Given the description of an element on the screen output the (x, y) to click on. 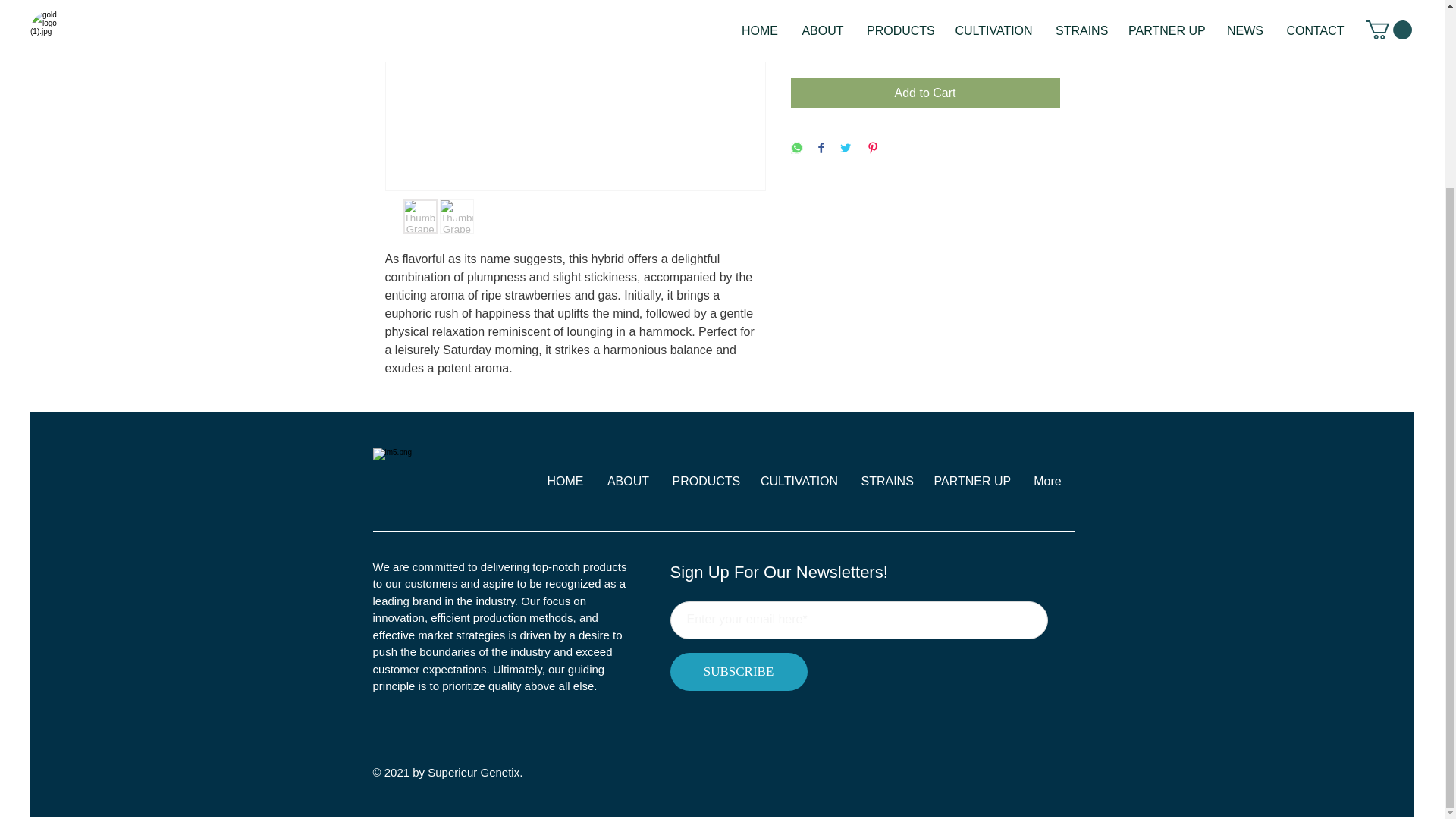
PRODUCTS (705, 481)
STRAINS (884, 481)
PARTNER UP (970, 481)
Add to Cart (924, 92)
CULTIVATION (799, 481)
ABOUT (628, 481)
HOME (565, 481)
1 (818, 38)
SUBSCRIBE (738, 671)
